Given the description of an element on the screen output the (x, y) to click on. 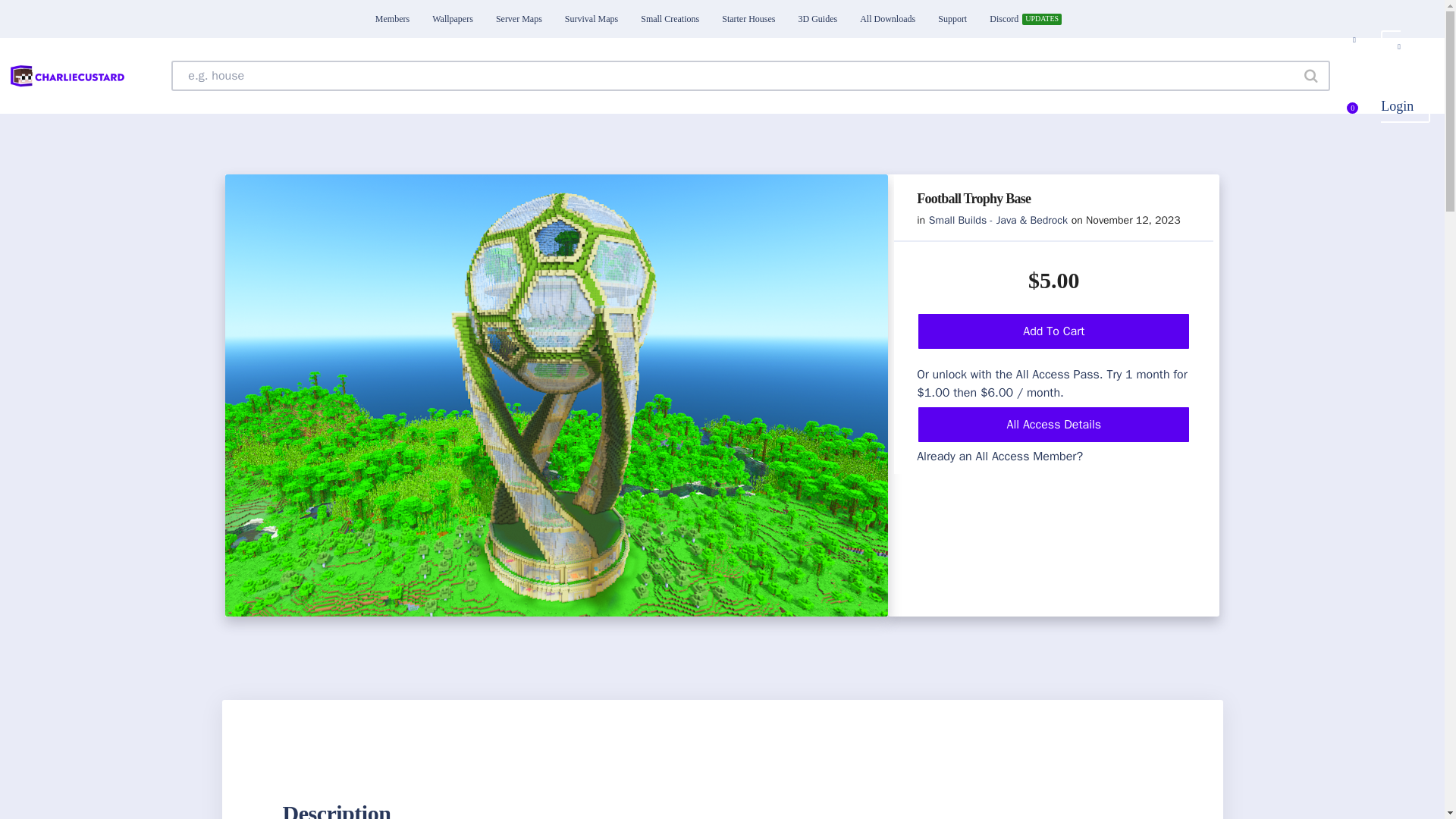
Wallpapers (452, 18)
Survival Maps (590, 18)
Members (392, 18)
Starter Houses (748, 18)
DiscordUPDATES (1024, 18)
All Downloads (887, 18)
3D Guides (817, 18)
Server Maps (518, 18)
Add to Cart (159, 18)
Add To Cart (1054, 331)
